Given the description of an element on the screen output the (x, y) to click on. 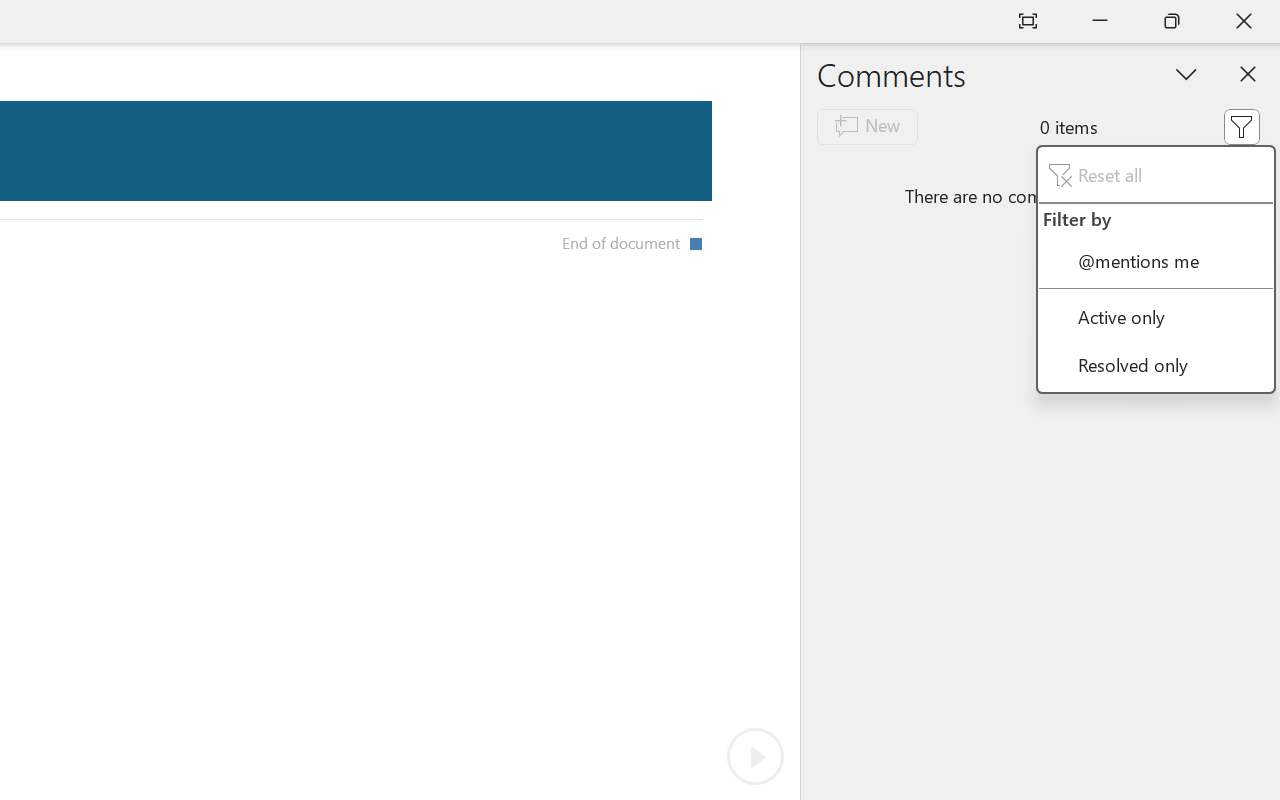
Filter (1241, 126)
New comment (866, 126)
Move (1131, 116)
Active only (1155, 316)
Class: Net UI Tool Window (1155, 268)
Reset all (1155, 175)
Auto-hide Reading Toolbar (1027, 21)
Resolved only (1155, 364)
@mentions me (1155, 260)
